Given the description of an element on the screen output the (x, y) to click on. 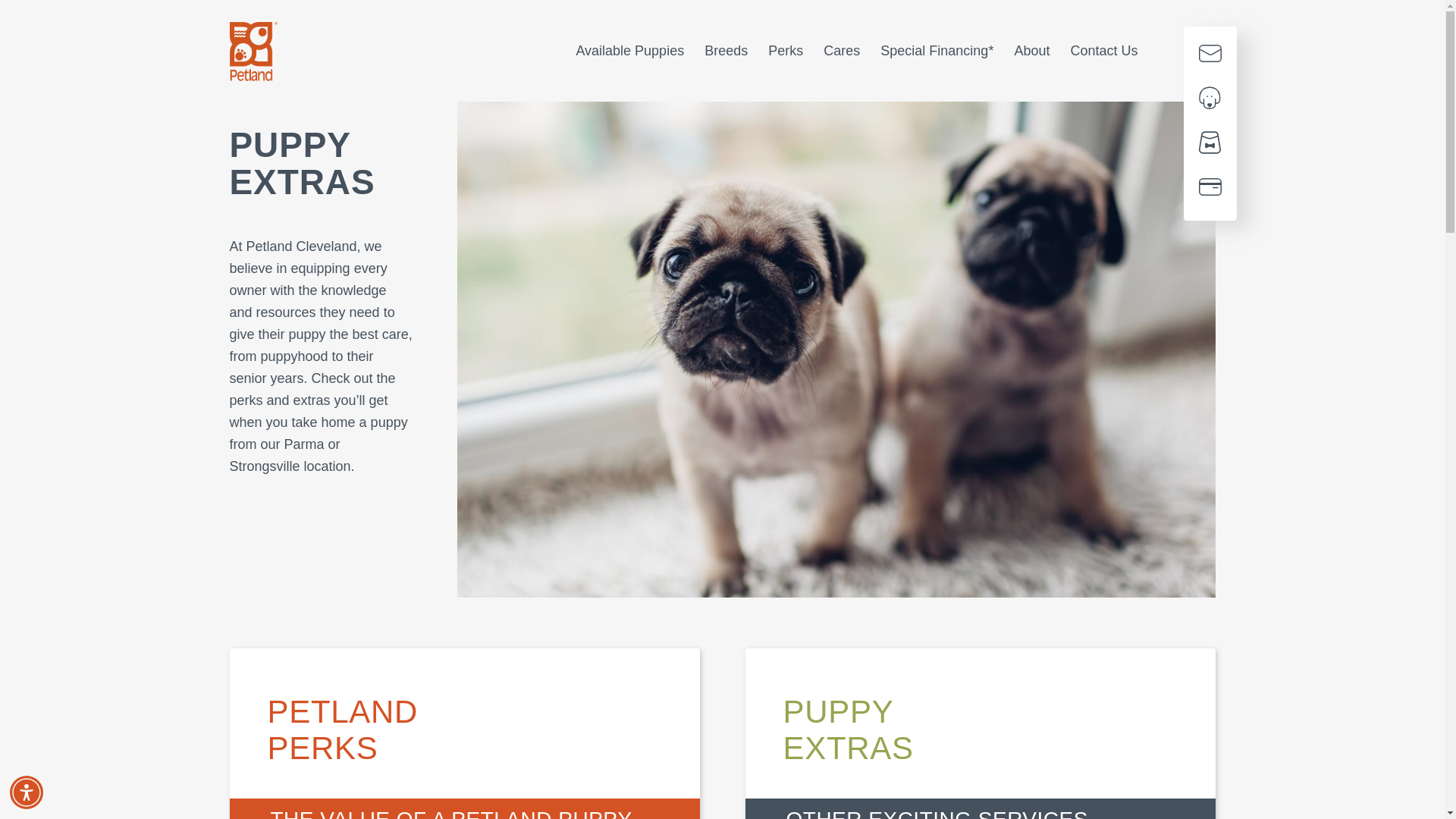
Contact Us (1209, 56)
Financing (1209, 190)
Perks (785, 51)
Breeds (726, 51)
Cares (841, 51)
Accessibility Menu (26, 792)
Contact Us (1103, 51)
OTHER EXCITING SERVICES (979, 808)
About (1031, 51)
Products (1209, 145)
THE VALUE OF A PETLAND PUPPY (463, 808)
Available Puppies (629, 51)
Available puppies (1209, 100)
